Given the description of an element on the screen output the (x, y) to click on. 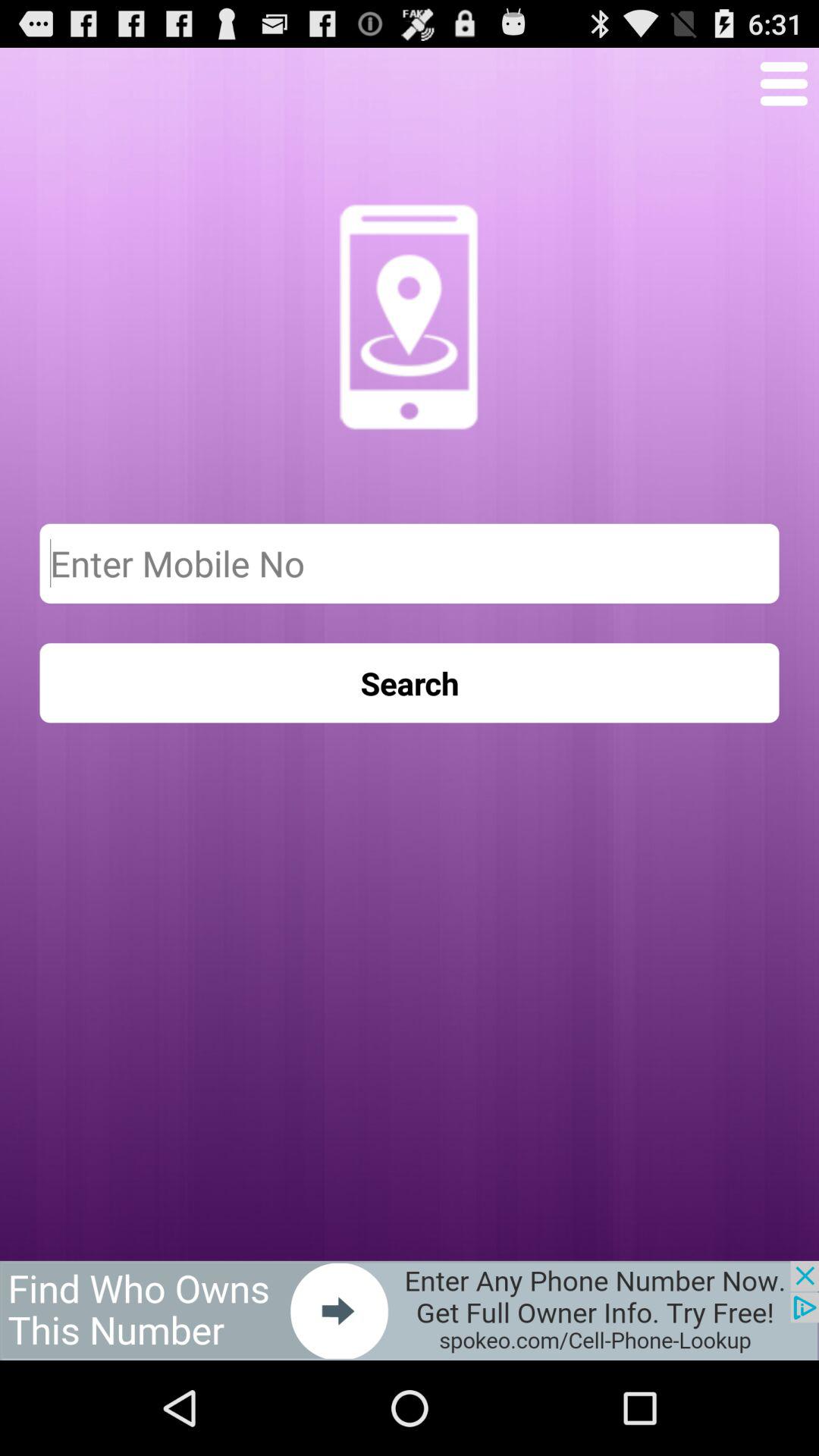
enter number (409, 563)
